Given the description of an element on the screen output the (x, y) to click on. 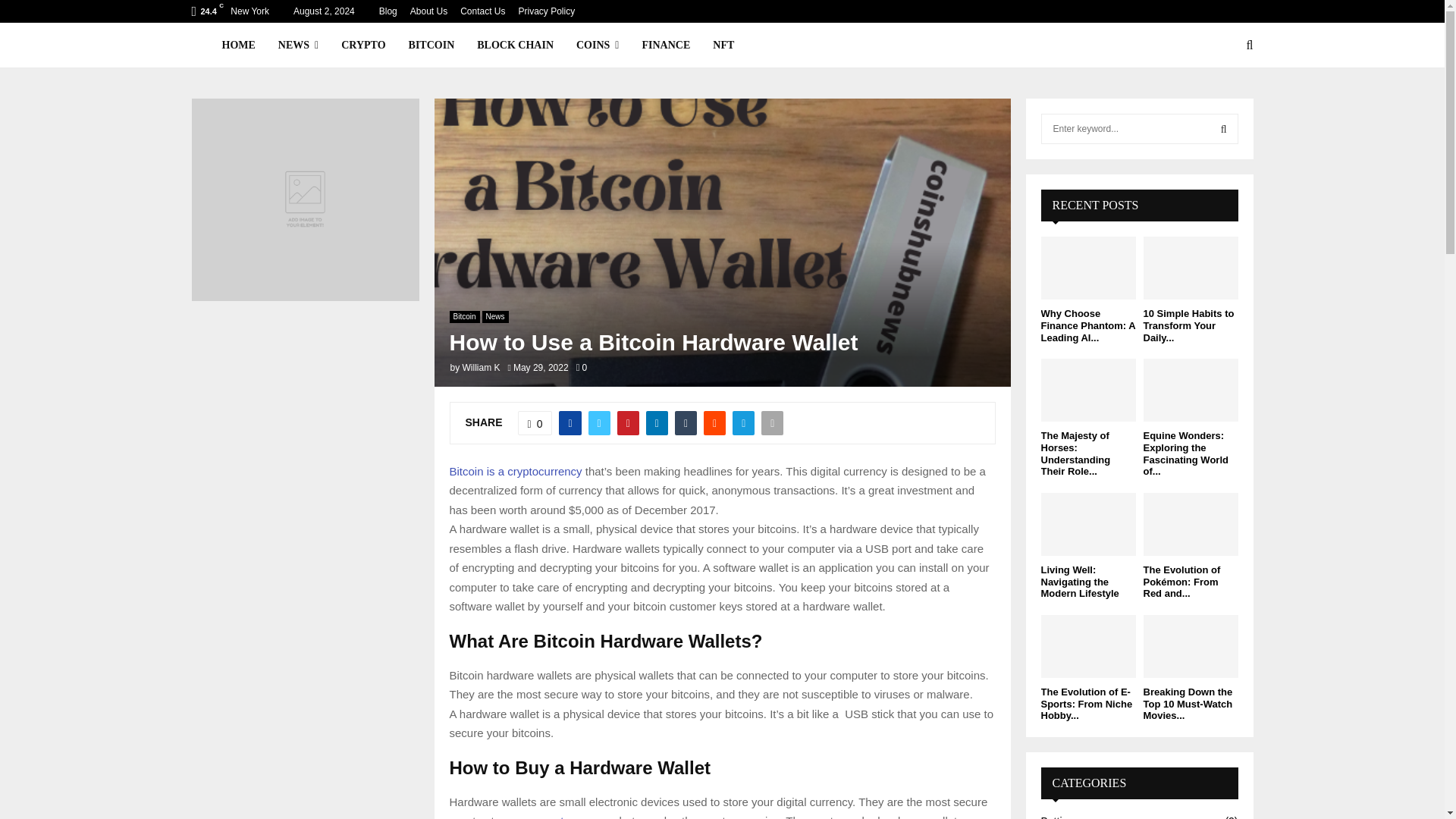
Contact Us (482, 11)
COINS (597, 44)
About Us (428, 11)
BLOCK CHAIN (515, 44)
Privacy Policy (546, 11)
BITCOIN (431, 44)
Like (535, 422)
CRYPTO (362, 44)
